Given the description of an element on the screen output the (x, y) to click on. 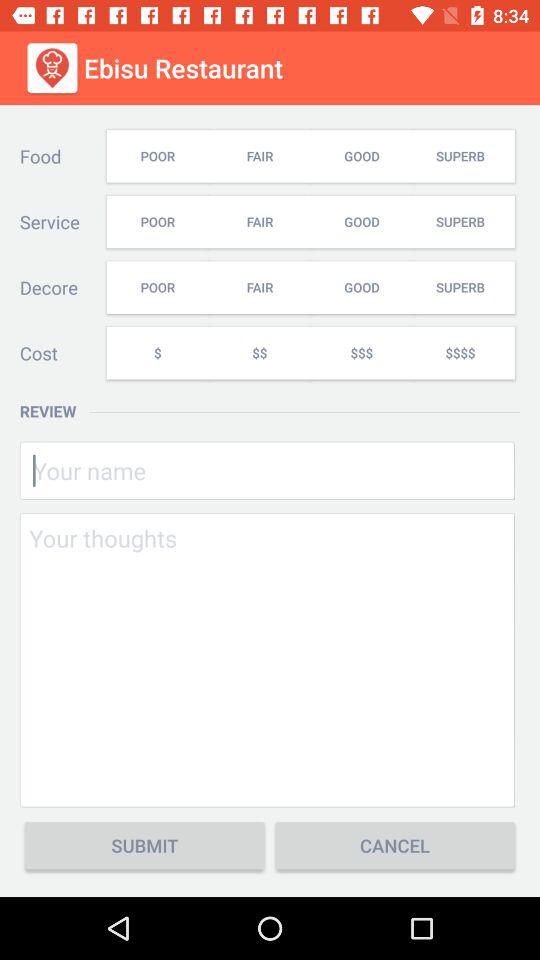
choose icon to the right of the $$$ icon (463, 352)
